Given the description of an element on the screen output the (x, y) to click on. 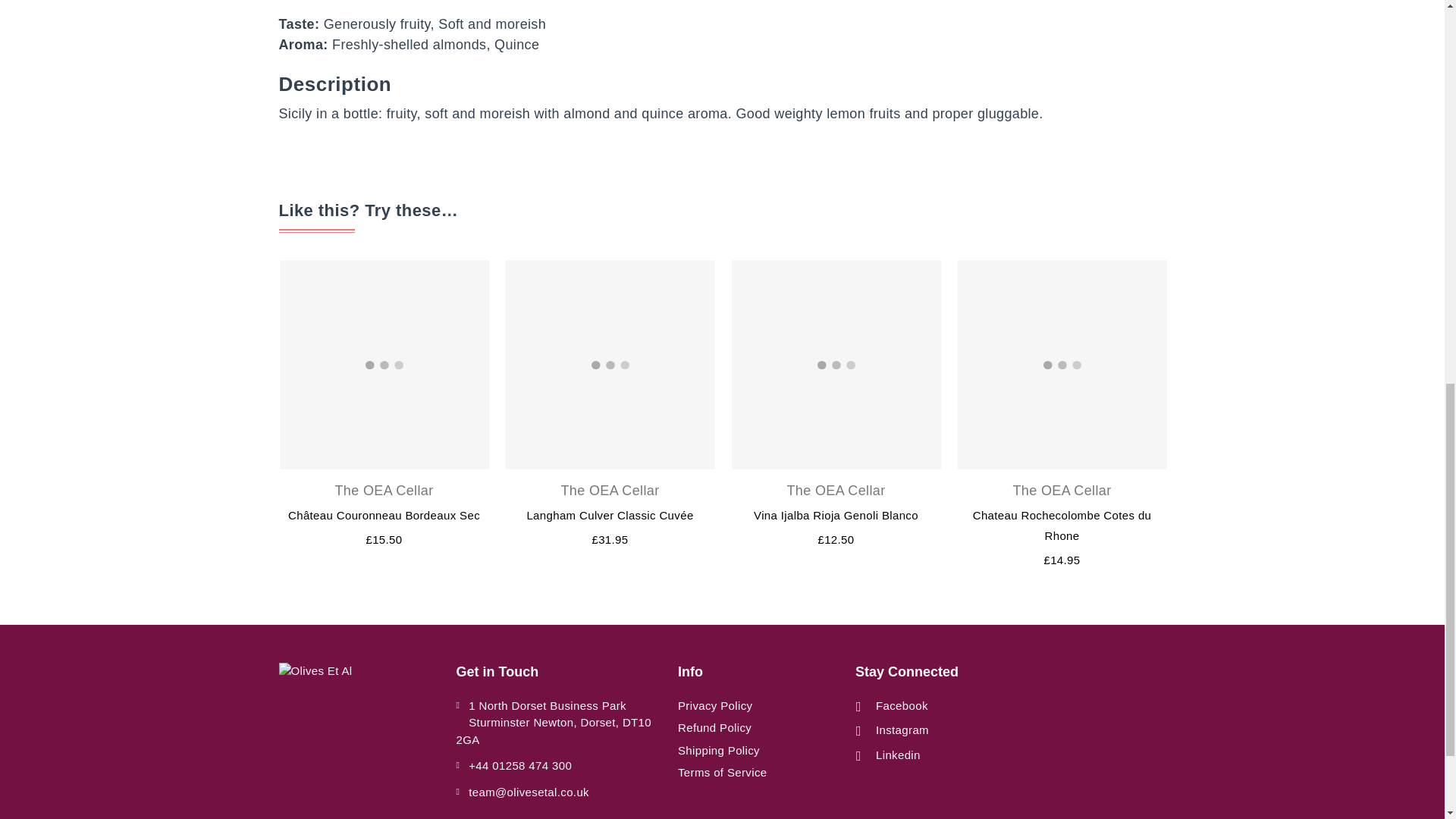
Olives Et Al on Facebook (891, 705)
Olives Et Al on Instagram (892, 730)
Olives Et Al on Linkedin (888, 755)
